Given the description of an element on the screen output the (x, y) to click on. 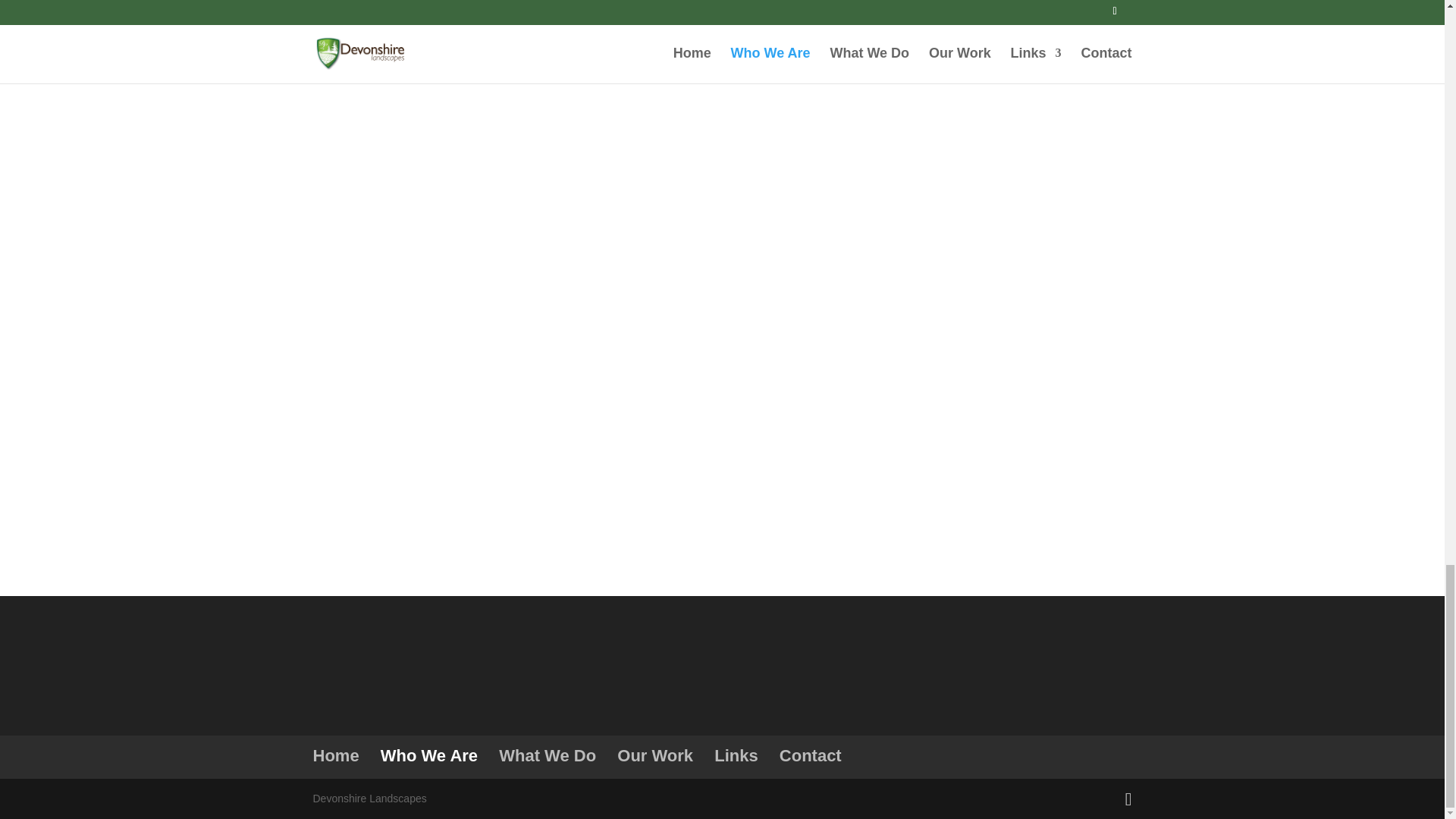
Who We Are (428, 755)
Contact (809, 755)
Our Work (655, 755)
Links (735, 755)
What We Do (547, 755)
Home (335, 755)
